Given the description of an element on the screen output the (x, y) to click on. 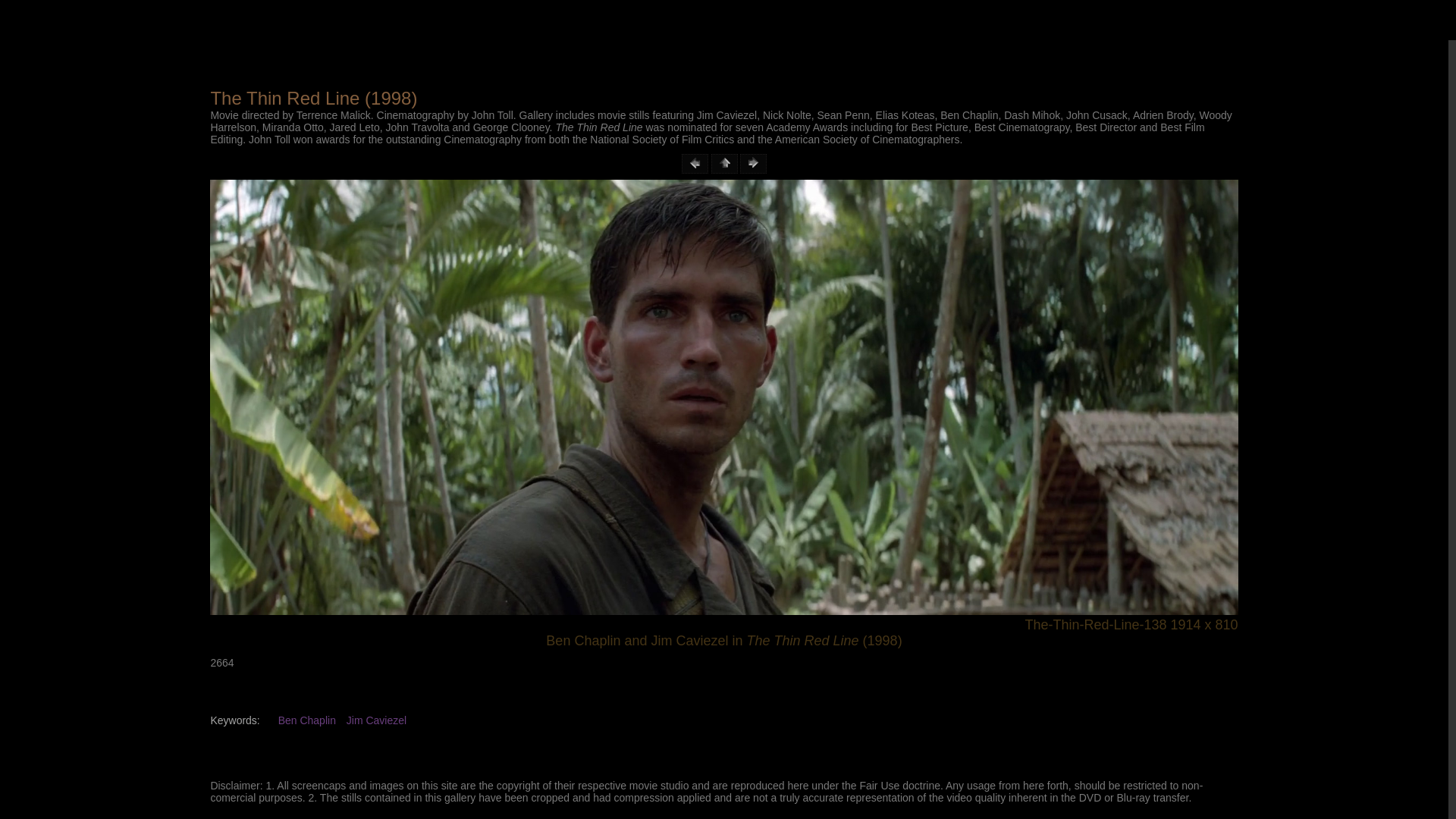
Advertisement (722, 31)
The-Thin-Red-Line-138 1914 x 810 (723, 625)
Ben Chaplin (308, 720)
Jim Caviezel (376, 720)
